Given the description of an element on the screen output the (x, y) to click on. 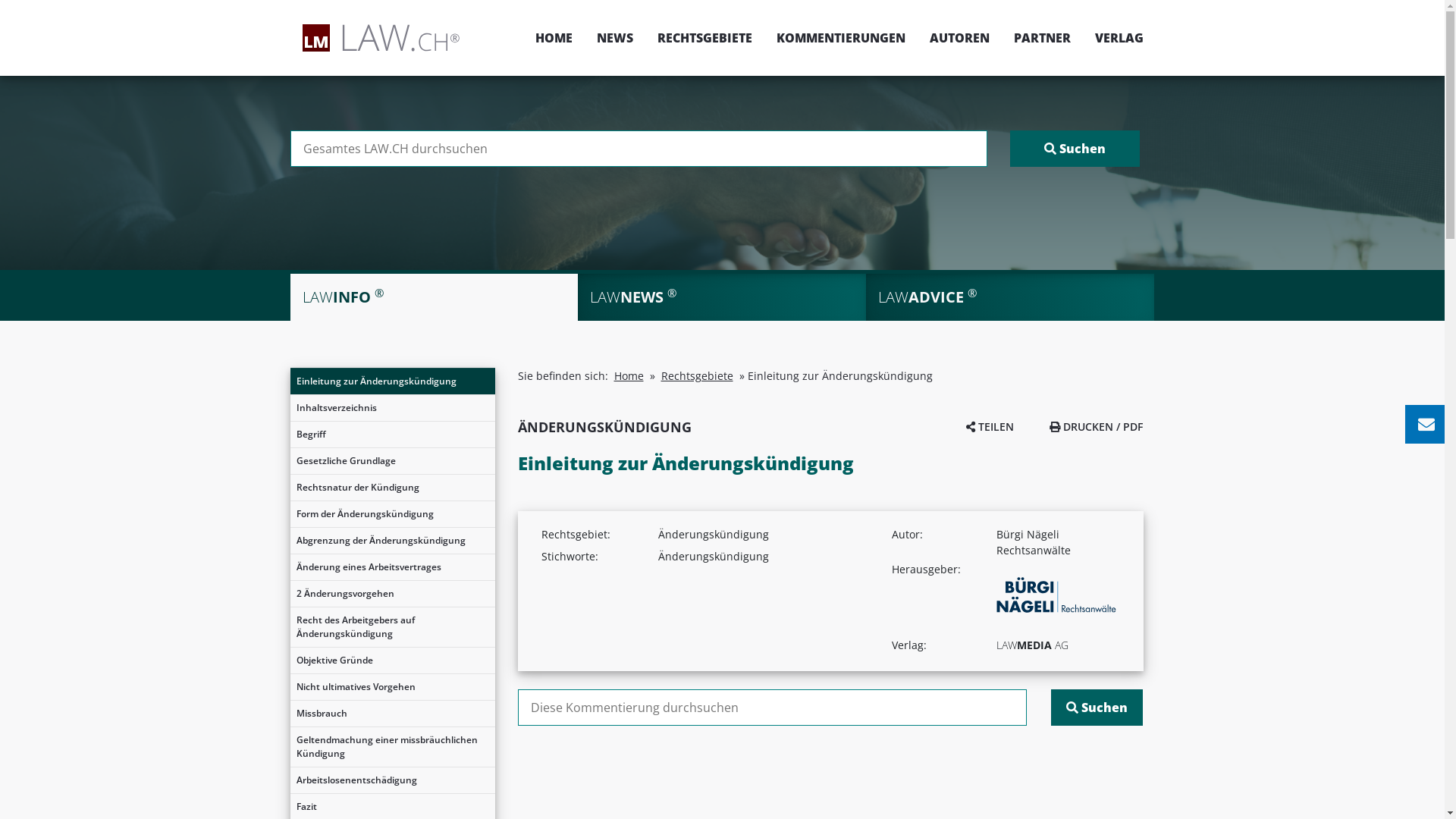
Rechtsgebiete Element type: text (697, 375)
Suchen nach: Element type: hover (771, 707)
PARTNER Element type: text (1041, 37)
Gesetzliche Grundlage Element type: text (391, 460)
Home Element type: text (628, 375)
KOMMENTIERUNGEN Element type: text (840, 37)
 DRUCKEN / PDF Element type: text (1095, 426)
Suchen nach: Element type: hover (637, 148)
RECHTSGEBIETE Element type: text (703, 37)
 TEILEN Element type: text (989, 426)
HOME Element type: text (553, 37)
AUTOREN Element type: text (959, 37)
Missbrauch Element type: text (391, 713)
VERLAG Element type: text (1112, 37)
Nicht ultimatives Vorgehen Element type: text (391, 686)
Inhaltsverzeichnis Element type: text (391, 407)
Begriff Element type: text (391, 434)
NEWS Element type: text (613, 37)
